Given the description of an element on the screen output the (x, y) to click on. 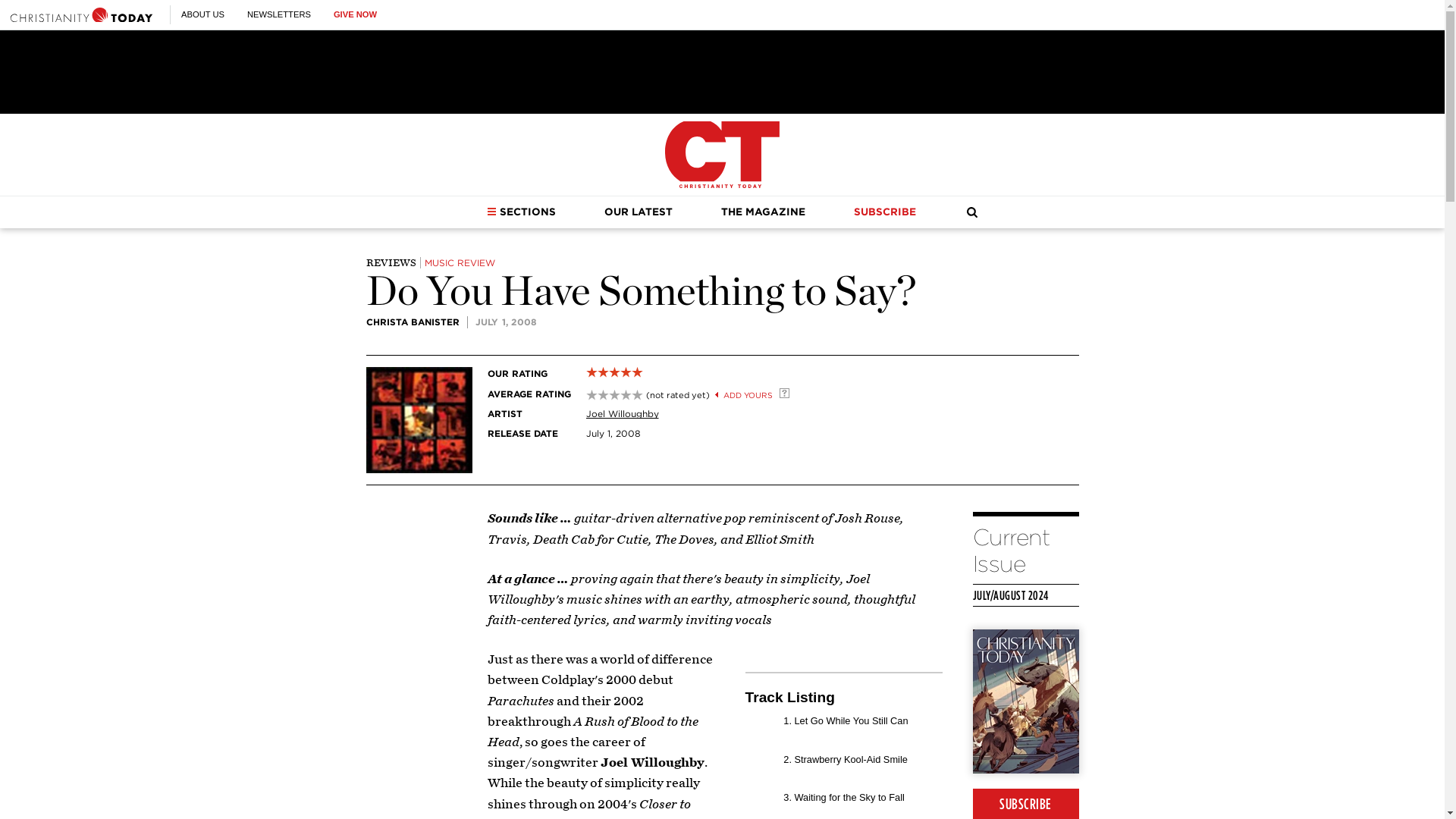
GIVE NOW (355, 14)
NEWSLETTERS (278, 14)
Christianity Today (721, 154)
Christianity Today (81, 14)
3rd party ad content (721, 71)
Sections Dropdown (491, 211)
ABOUT US (202, 14)
SECTIONS (521, 212)
